Given the description of an element on the screen output the (x, y) to click on. 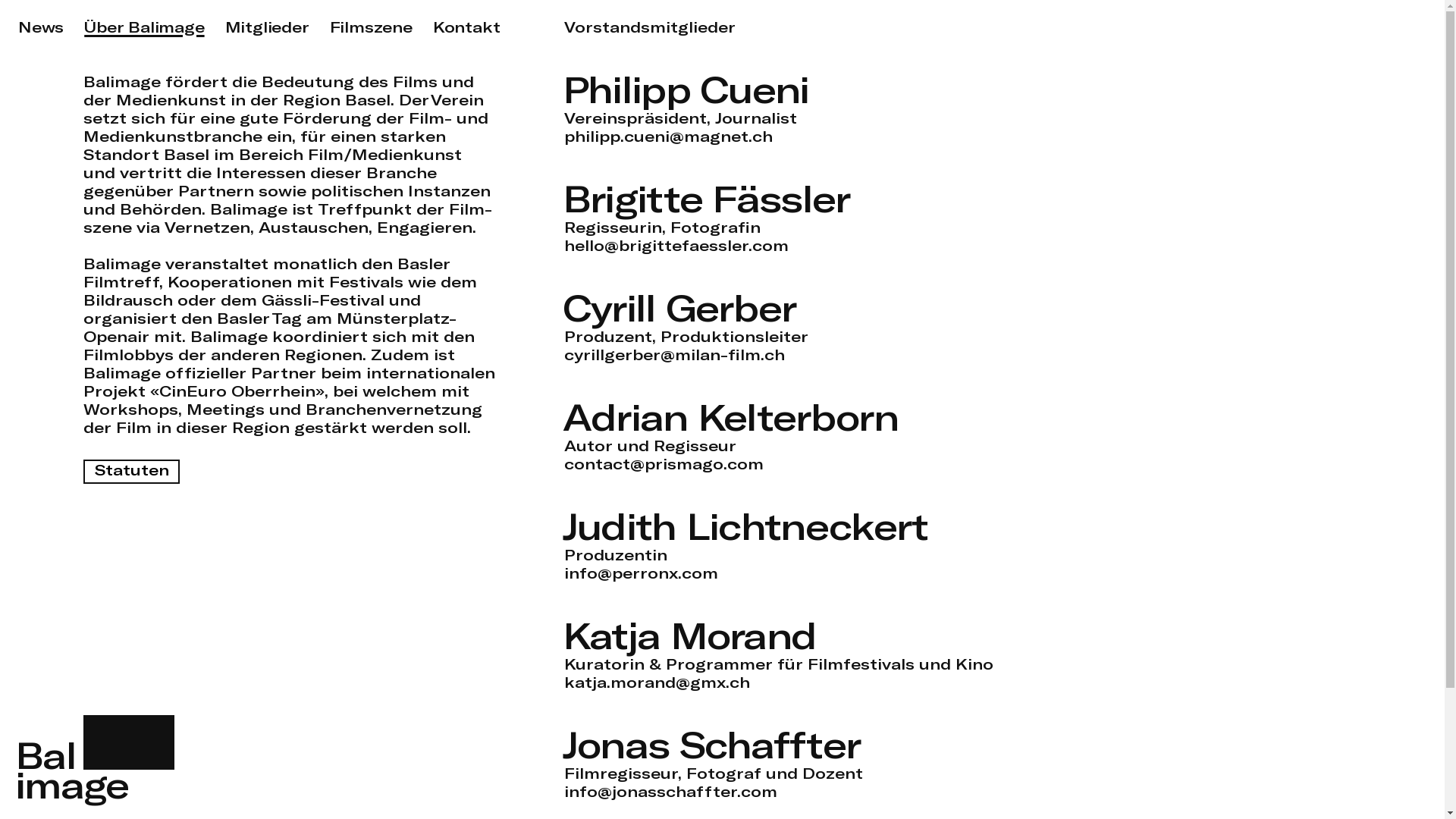
philipp.cueni@magnet.ch Element type: text (668, 135)
info@jonasschaffter.com Element type: text (670, 790)
info@perronx.com Element type: text (641, 572)
Mitglieder Element type: text (267, 26)
katja.morand@gmx.ch Element type: text (656, 681)
Filmszene Element type: text (370, 26)
contact@prismago.com Element type: text (663, 463)
News Element type: text (40, 26)
Kontakt Element type: text (466, 26)
hello@brigittefaessler.com Element type: text (676, 244)
cyrillgerber@milan-film.ch Element type: text (674, 354)
